Given the description of an element on the screen output the (x, y) to click on. 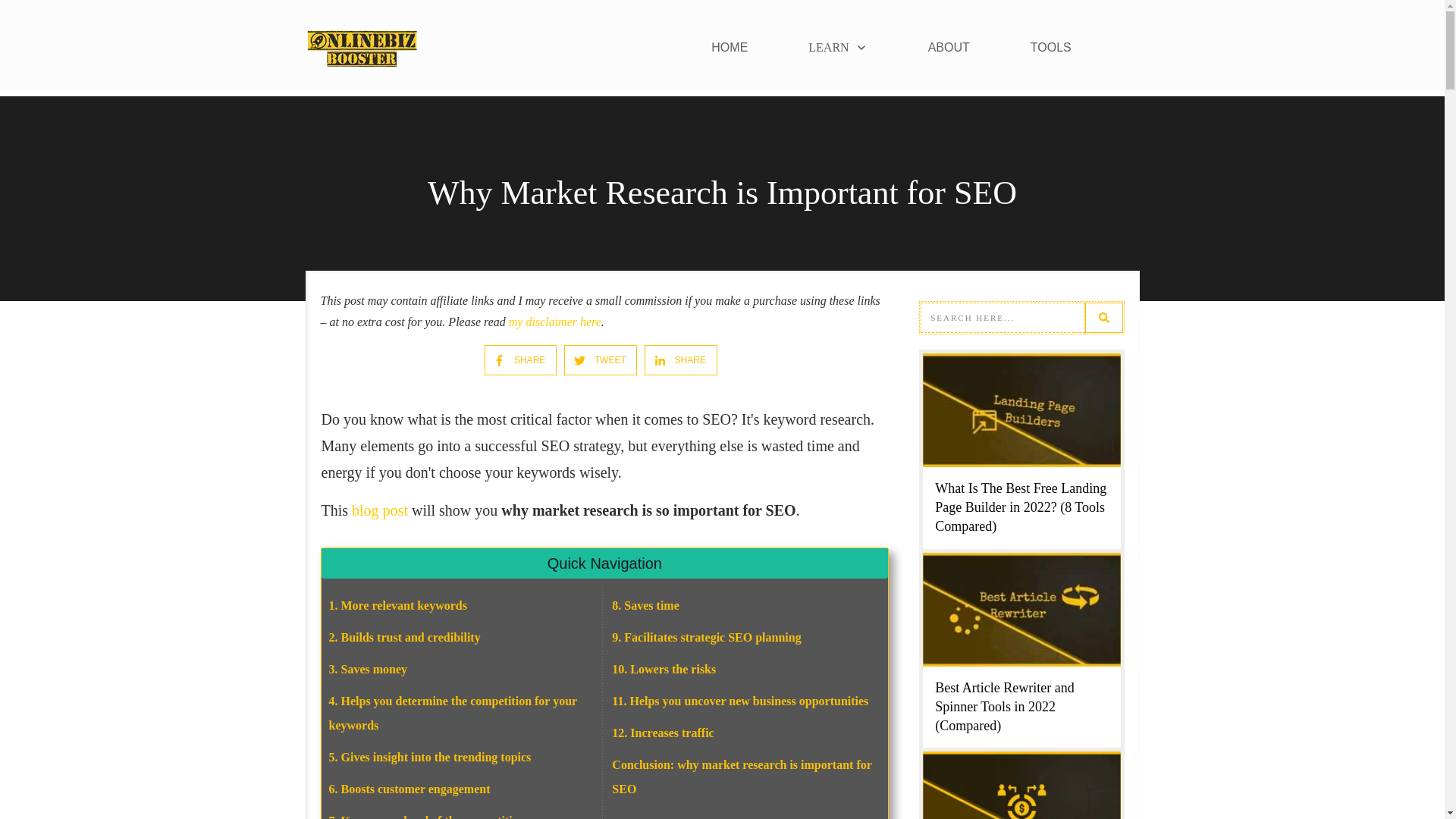
blog post (379, 510)
TOOLS (1050, 47)
11. Helps you uncover new business opportunities (739, 700)
10. Lowers the risks (663, 668)
3. Saves money (368, 668)
TWEET (593, 359)
2. Builds trust and credibility (404, 636)
HOME (729, 47)
8. Saves time (644, 604)
my disclaimer here (554, 321)
12. Increases traffic (662, 732)
9. Facilitates strategic SEO planning (705, 636)
ABOUT (948, 47)
SHARE (513, 359)
LEARN (837, 47)
